Given the description of an element on the screen output the (x, y) to click on. 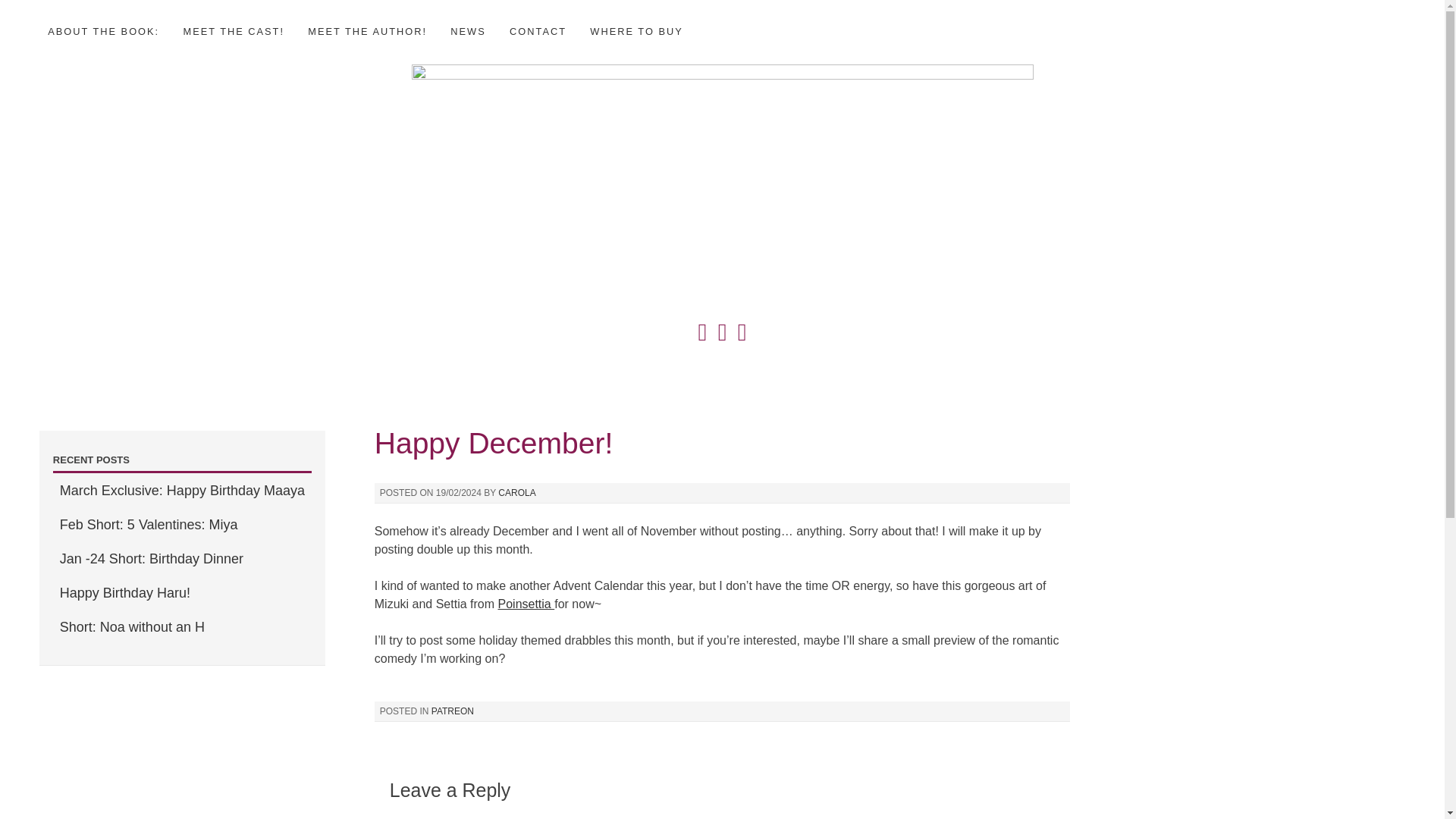
Twitter (702, 324)
Facebook (742, 324)
ABOUT THE BOOK: (103, 31)
CAROLA (516, 492)
MEET THE AUTHOR! (366, 31)
Feb Short: 5 Valentines: Miya (148, 524)
PATREON (452, 710)
CONTACT (537, 31)
WHERE TO BUY (635, 31)
March Exclusive: Happy Birthday Maaya (181, 490)
MEET THE CAST! (233, 31)
Instagram (722, 324)
Jan -24 Short: Birthday Dinner (151, 558)
NEWS (468, 31)
Short: Noa without an H (132, 626)
